Given the description of an element on the screen output the (x, y) to click on. 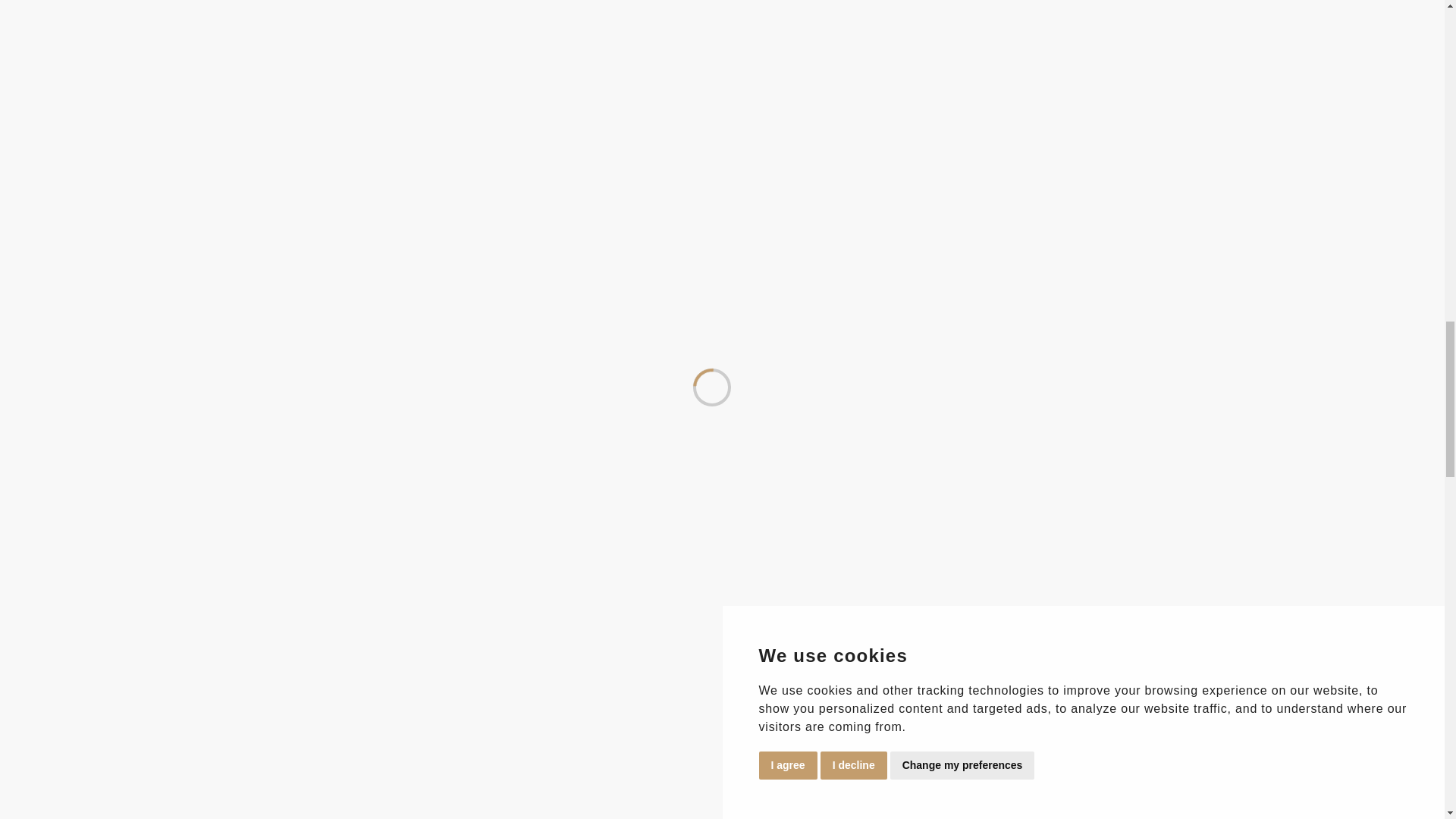
Facebook (857, 210)
Cookie Policy (333, 195)
Vimeo (910, 210)
Instagram (885, 210)
Staff Millennium eventi e comunicazione (785, 211)
Privacy Policy (261, 195)
